Given the description of an element on the screen output the (x, y) to click on. 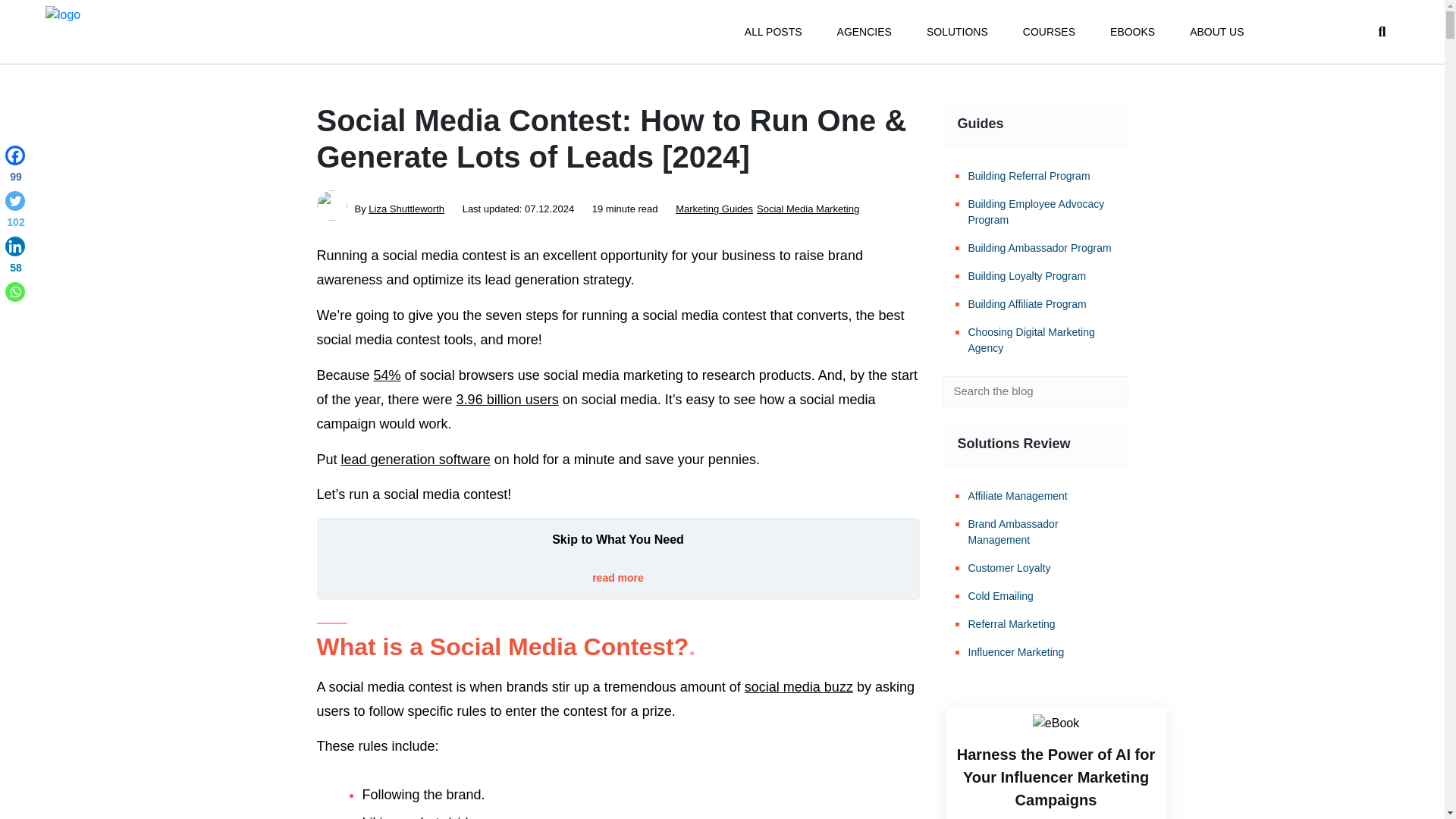
Facebook (14, 166)
Twitter (14, 211)
Search (1105, 391)
Whatsapp (14, 291)
SOLUTIONS (957, 31)
ALL POSTS (772, 31)
Search (1105, 391)
AGENCIES (864, 31)
Linkedin (14, 257)
